Given the description of an element on the screen output the (x, y) to click on. 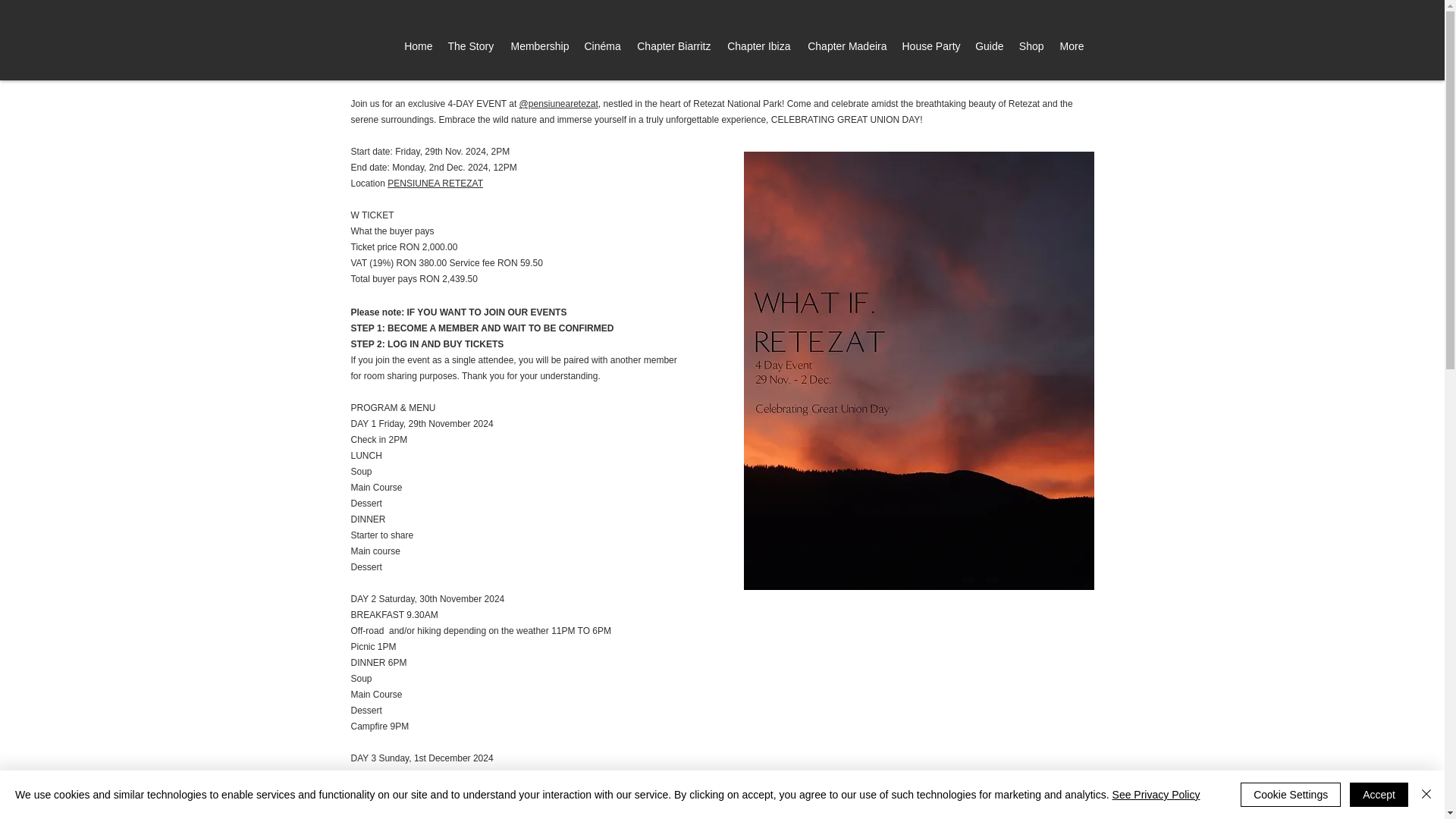
Chapter Biarritz (672, 46)
House Party (930, 46)
PENSIUNEA RETEZAT (435, 183)
Guide (988, 46)
Home (417, 46)
Shop (1031, 46)
Chapter Ibiza (758, 46)
Membership (538, 46)
Chapter Madeira (845, 46)
The Story (469, 46)
